Given the description of an element on the screen output the (x, y) to click on. 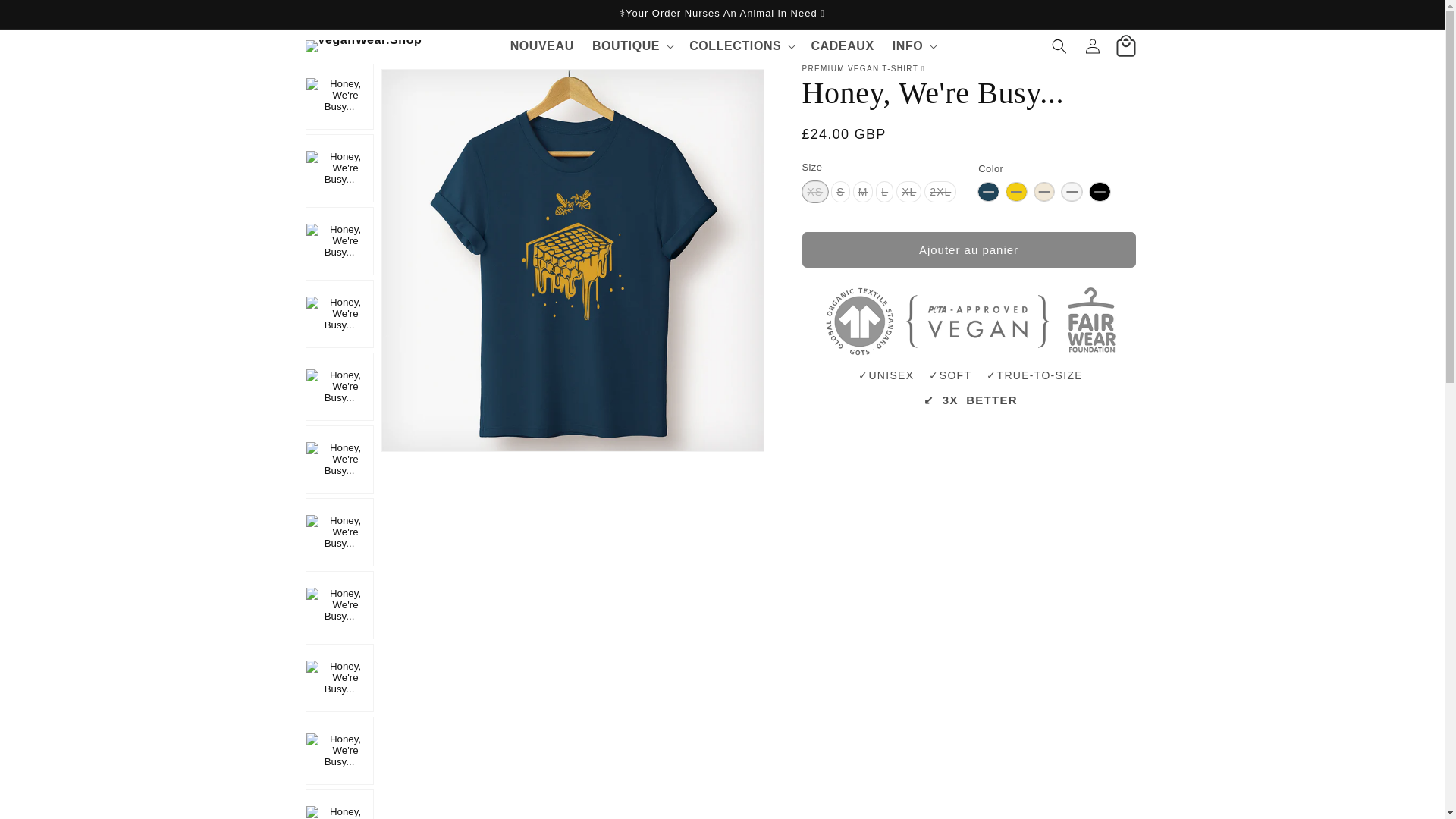
Ignorer et passer au contenu (45, 17)
NOUVEAU (541, 46)
